Given the description of an element on the screen output the (x, y) to click on. 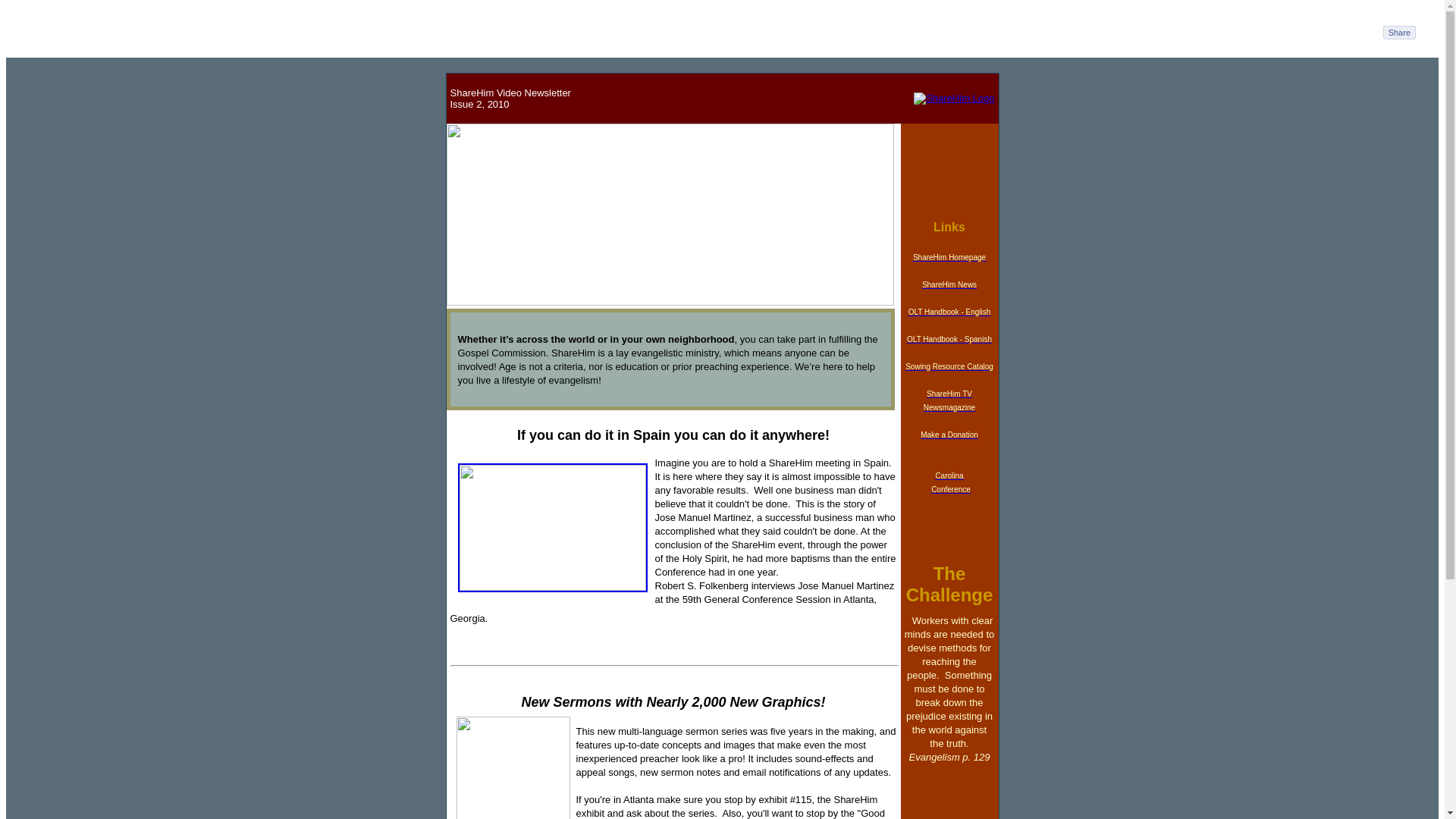
Sowing Resource Catalog (948, 364)
Make a Donation (949, 432)
ShareHim News (948, 282)
ShareHim Homepage (948, 255)
Conference (951, 487)
OLT Handbook - Spanish (949, 337)
ShareHim TV Newsmagazine (949, 398)
Share (1399, 32)
Carolina (948, 487)
OLT Handbook - English (949, 309)
